Given the description of an element on the screen output the (x, y) to click on. 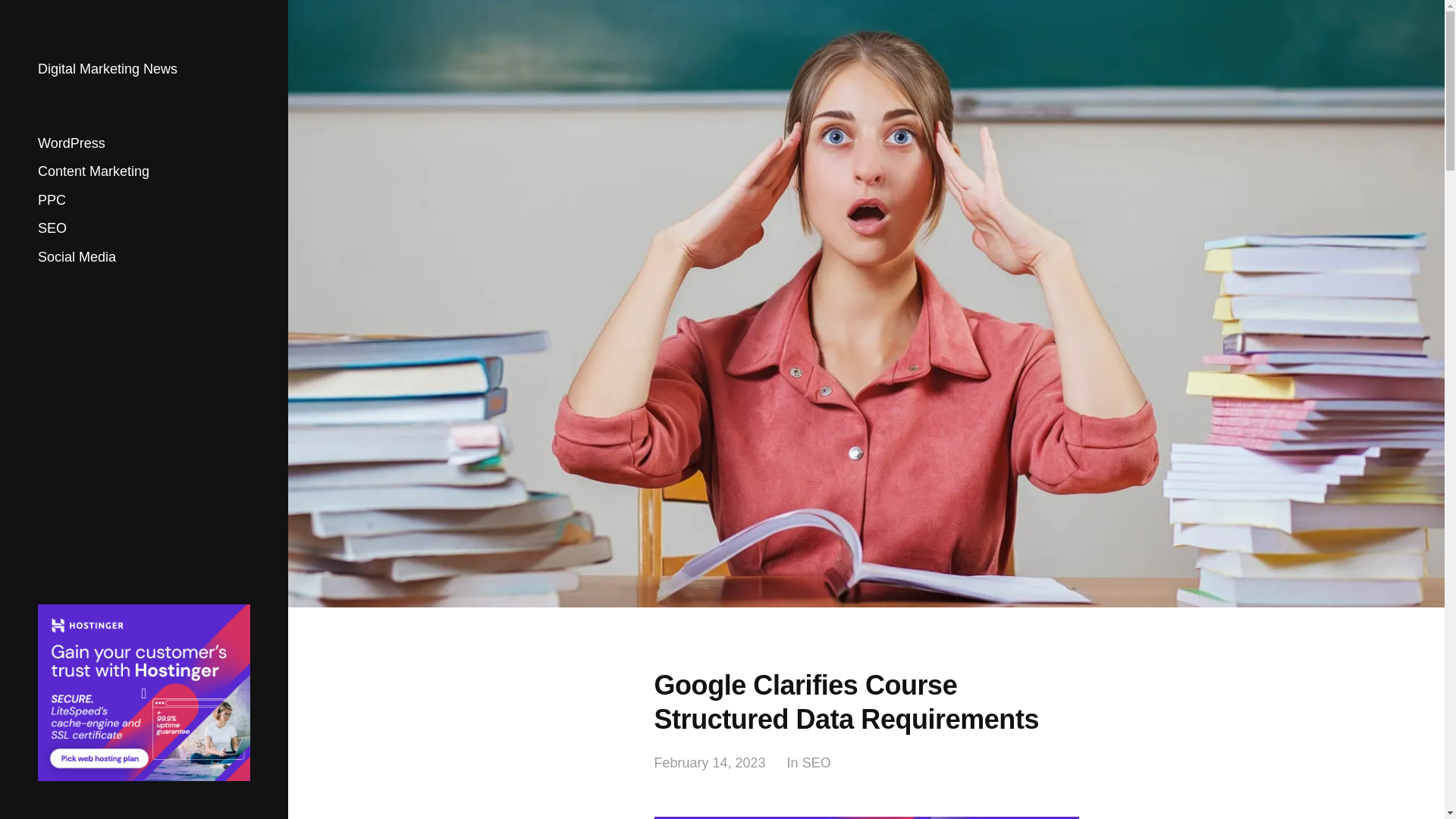
SEO (816, 763)
Content Marketing (93, 171)
February 14, 2023 (709, 763)
PPC (51, 200)
Social Media (76, 256)
SEO (51, 228)
WordPress (70, 142)
Digital Marketing News (107, 68)
